Given the description of an element on the screen output the (x, y) to click on. 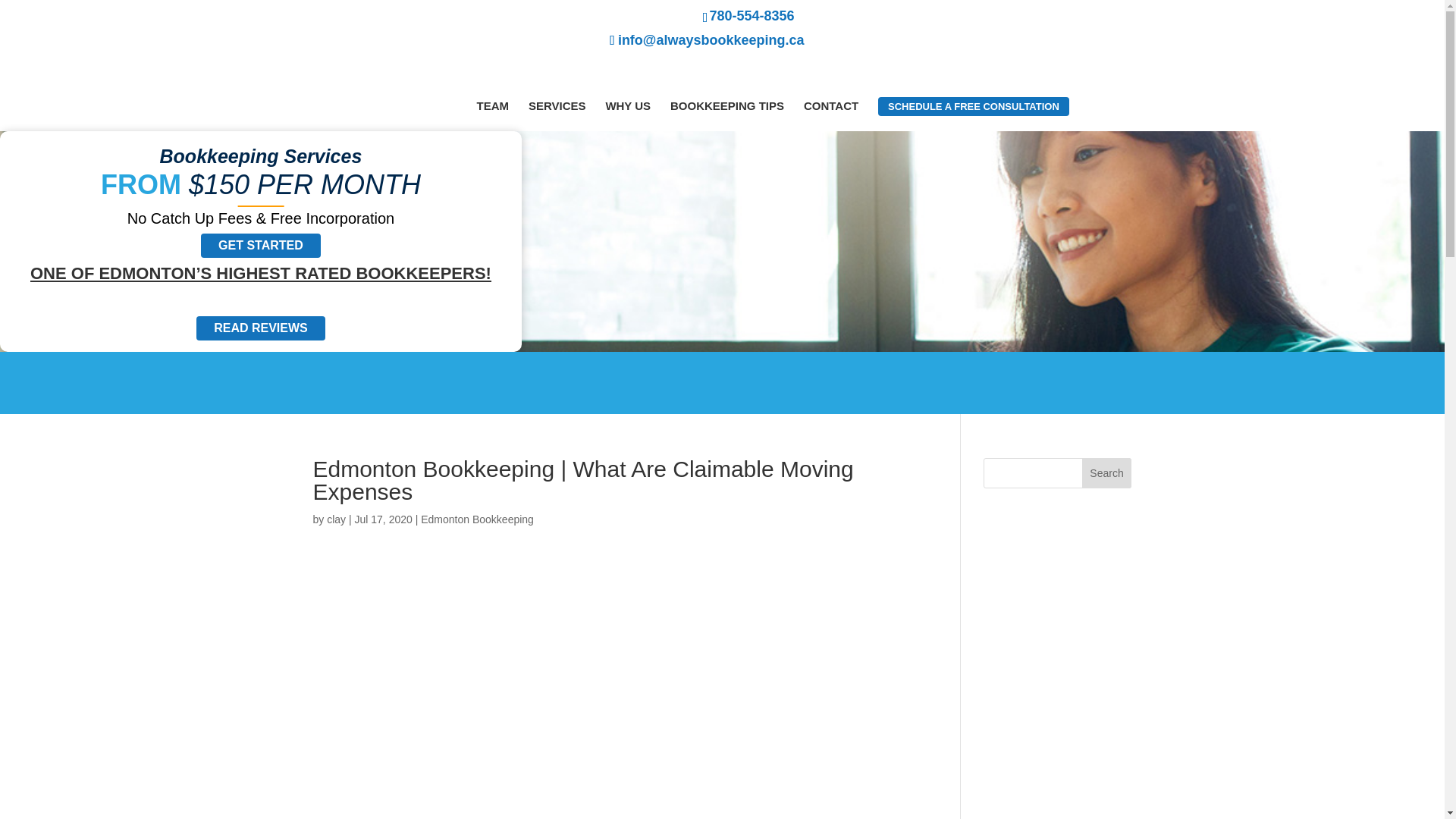
BOOKKEEPING TIPS (726, 105)
Edmonton Bookkeeping (477, 519)
READ REVIEWS (260, 328)
CONTACT (831, 105)
SCHEDULE A FREE CONSULTATION (972, 106)
Search (1106, 472)
Posts by clay (336, 519)
TEAM (492, 105)
GET STARTED (260, 245)
clay (336, 519)
